Given the description of an element on the screen output the (x, y) to click on. 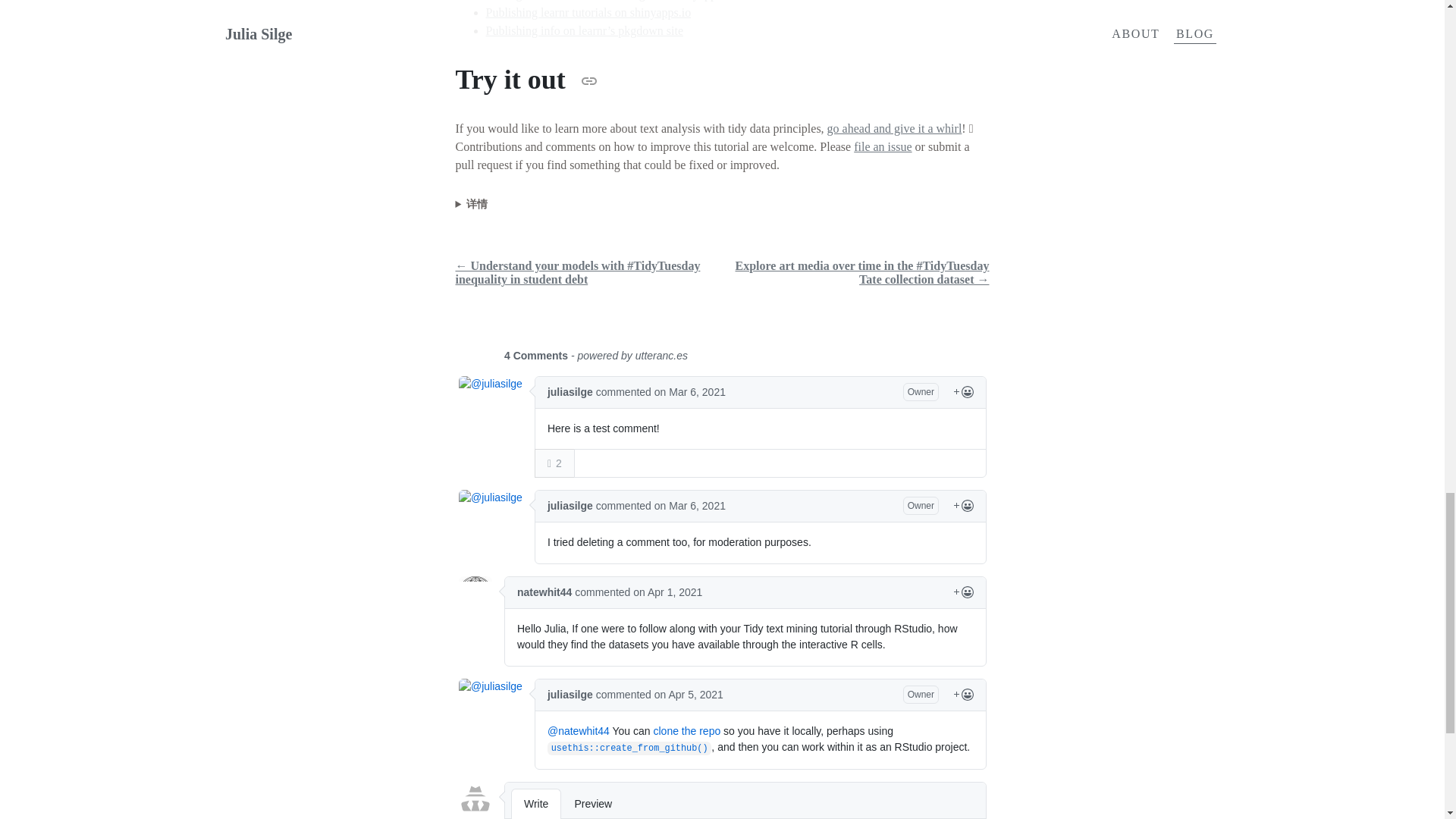
go ahead and give it a whirl (894, 128)
Publishing learnr tutorials on shinyapps.io (587, 11)
file an issue (882, 146)
